Given the description of an element on the screen output the (x, y) to click on. 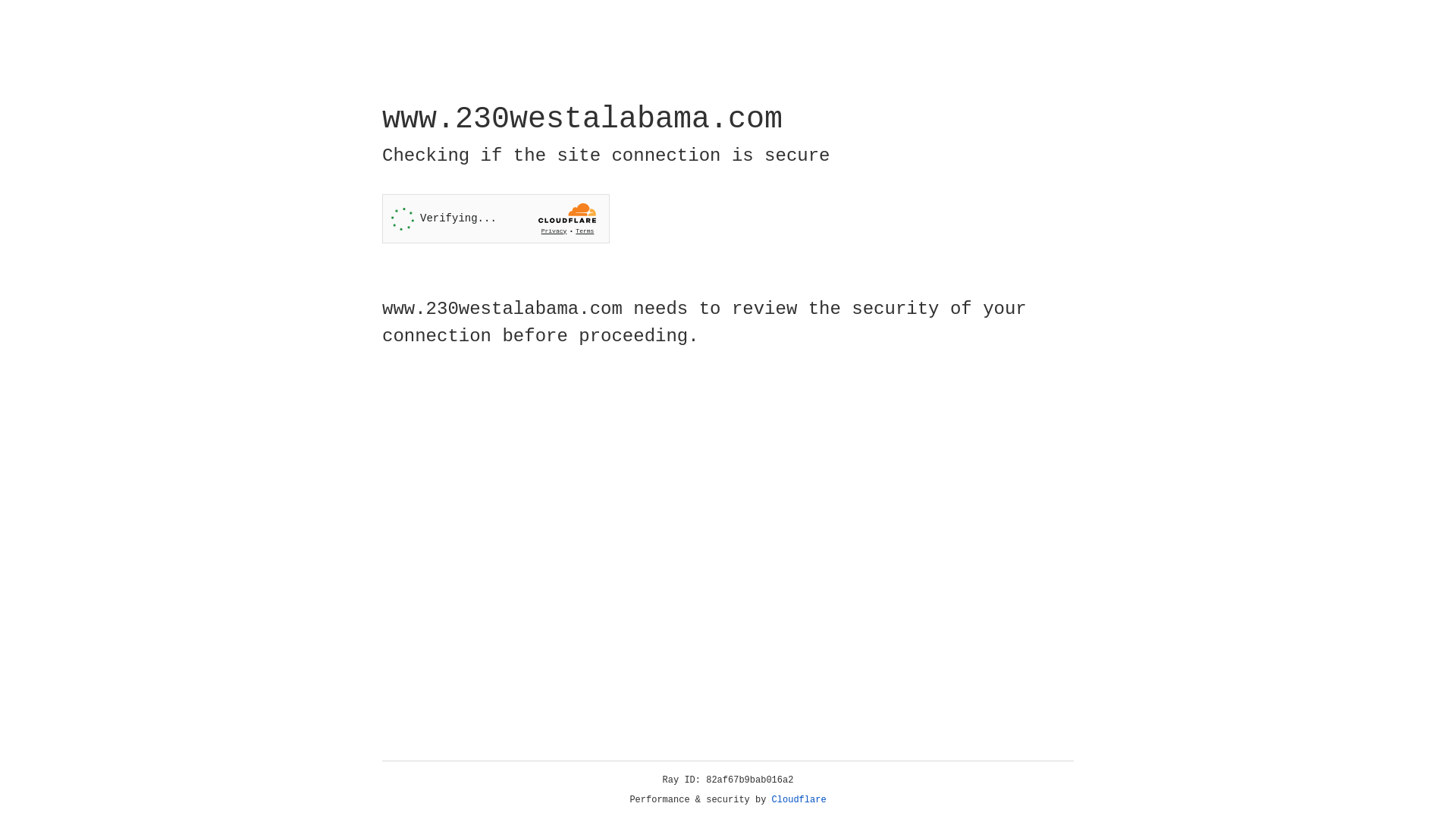
Widget containing a Cloudflare security challenge Element type: hover (495, 218)
Cloudflare Element type: text (798, 799)
